Given the description of an element on the screen output the (x, y) to click on. 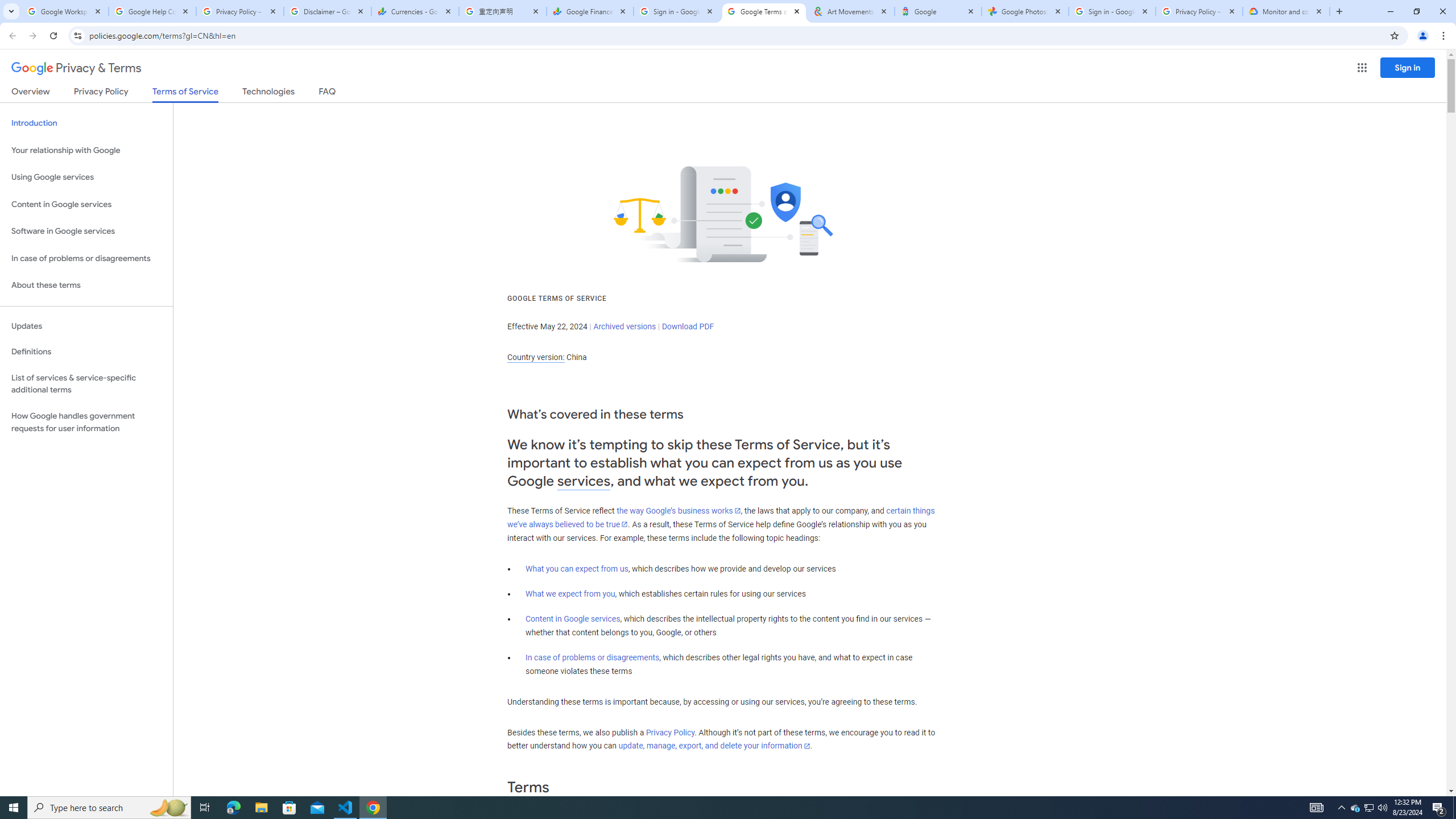
Country version: (535, 357)
About these terms (86, 284)
List of services & service-specific additional terms (86, 383)
Sign in - Google Accounts (676, 11)
Google Workspace Admin Community (64, 11)
